Given the description of an element on the screen output the (x, y) to click on. 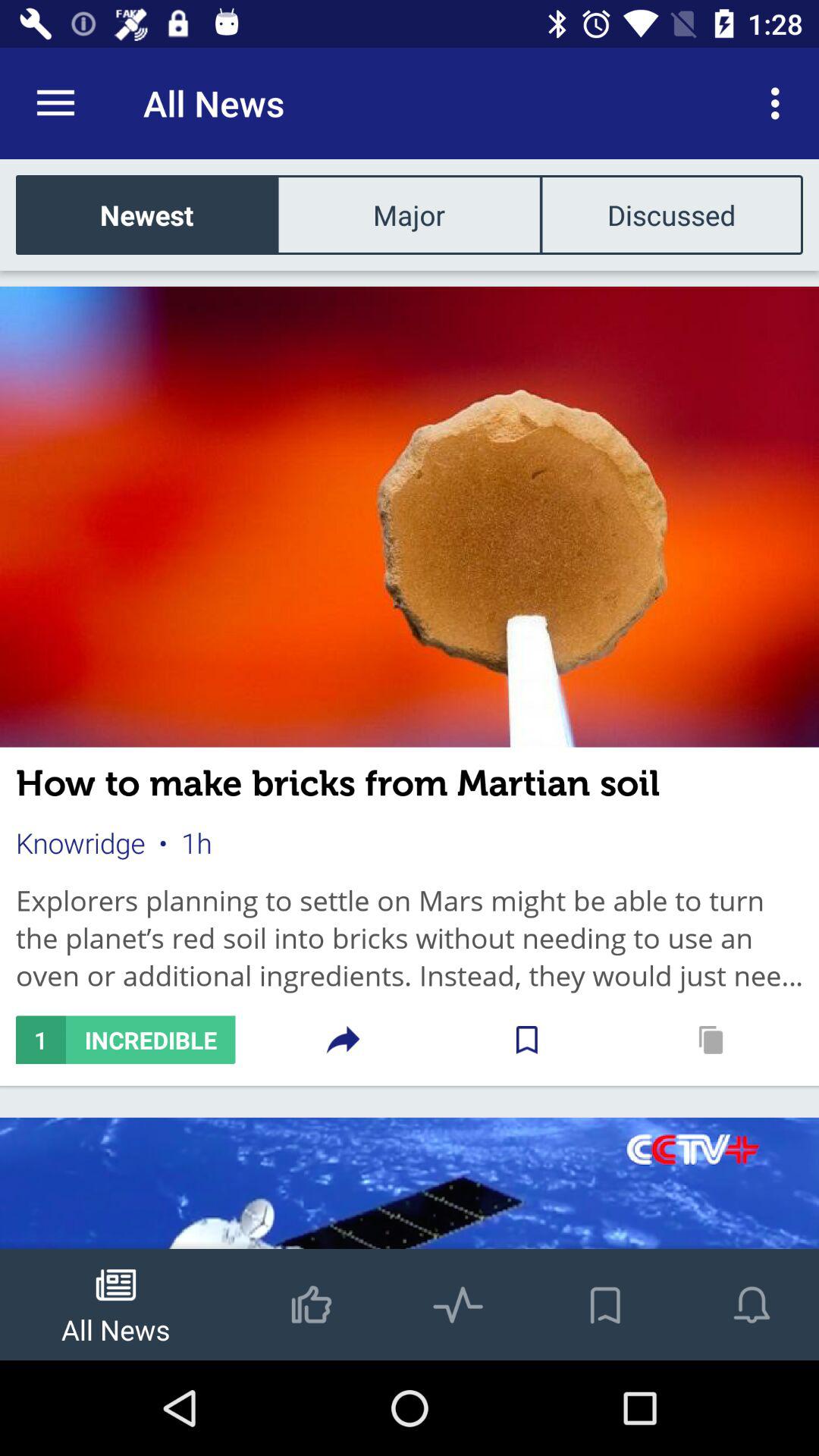
turn off the item next to the all news icon (55, 103)
